Given the description of an element on the screen output the (x, y) to click on. 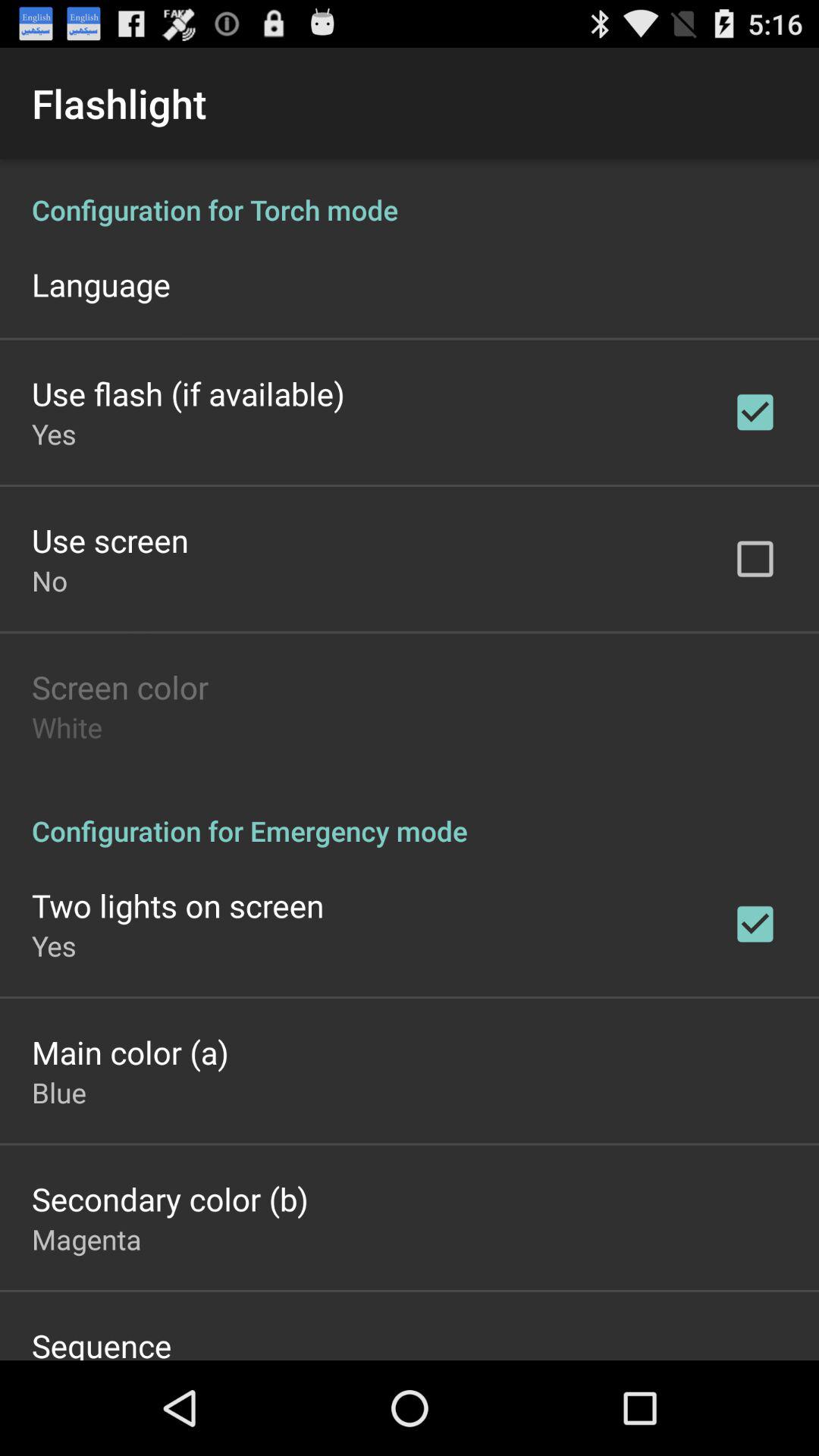
choose the app above the use flash if item (100, 283)
